Given the description of an element on the screen output the (x, y) to click on. 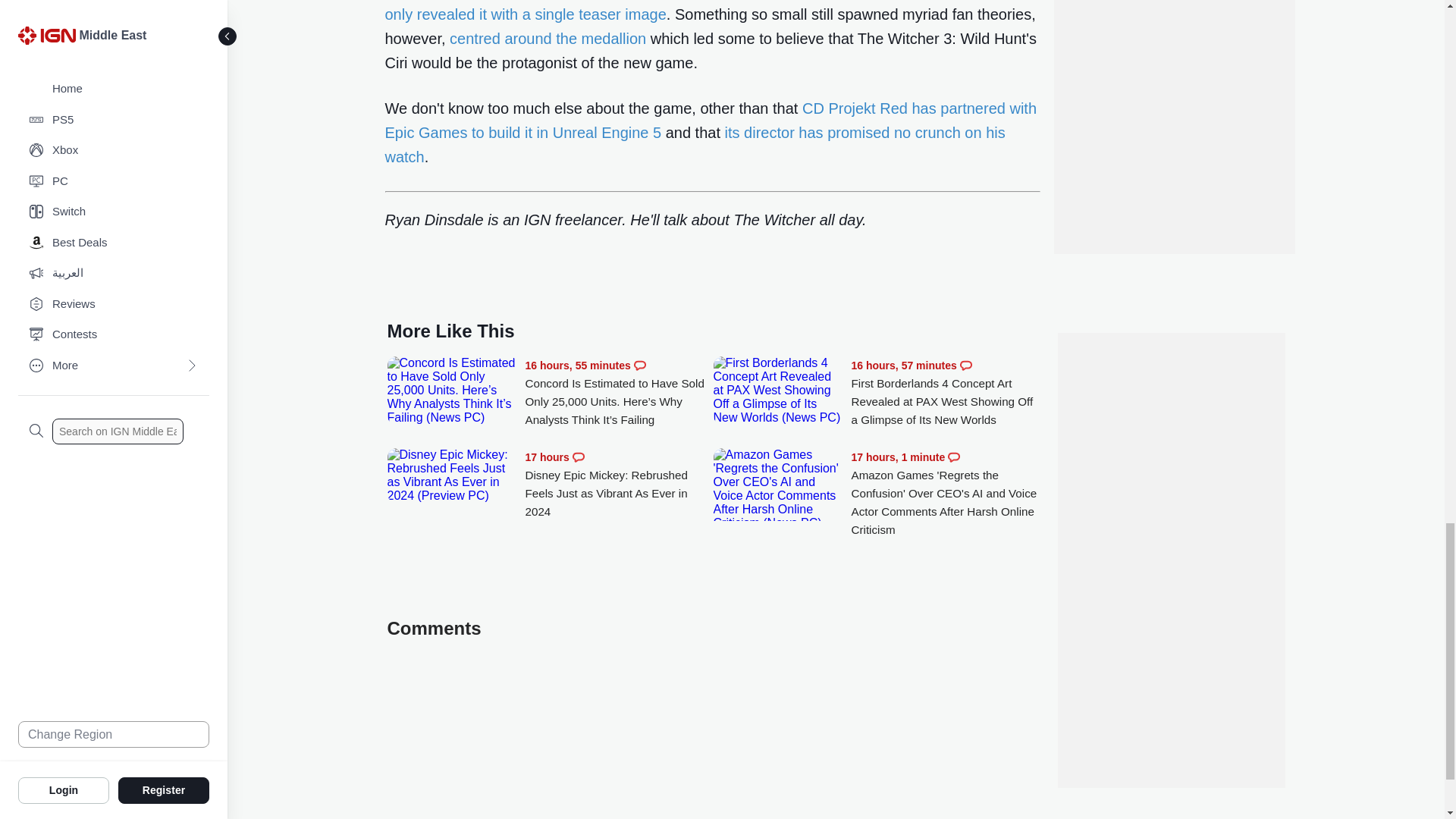
Comments (639, 365)
Comments (965, 365)
Comments (578, 457)
Comments (953, 457)
